Given the description of an element on the screen output the (x, y) to click on. 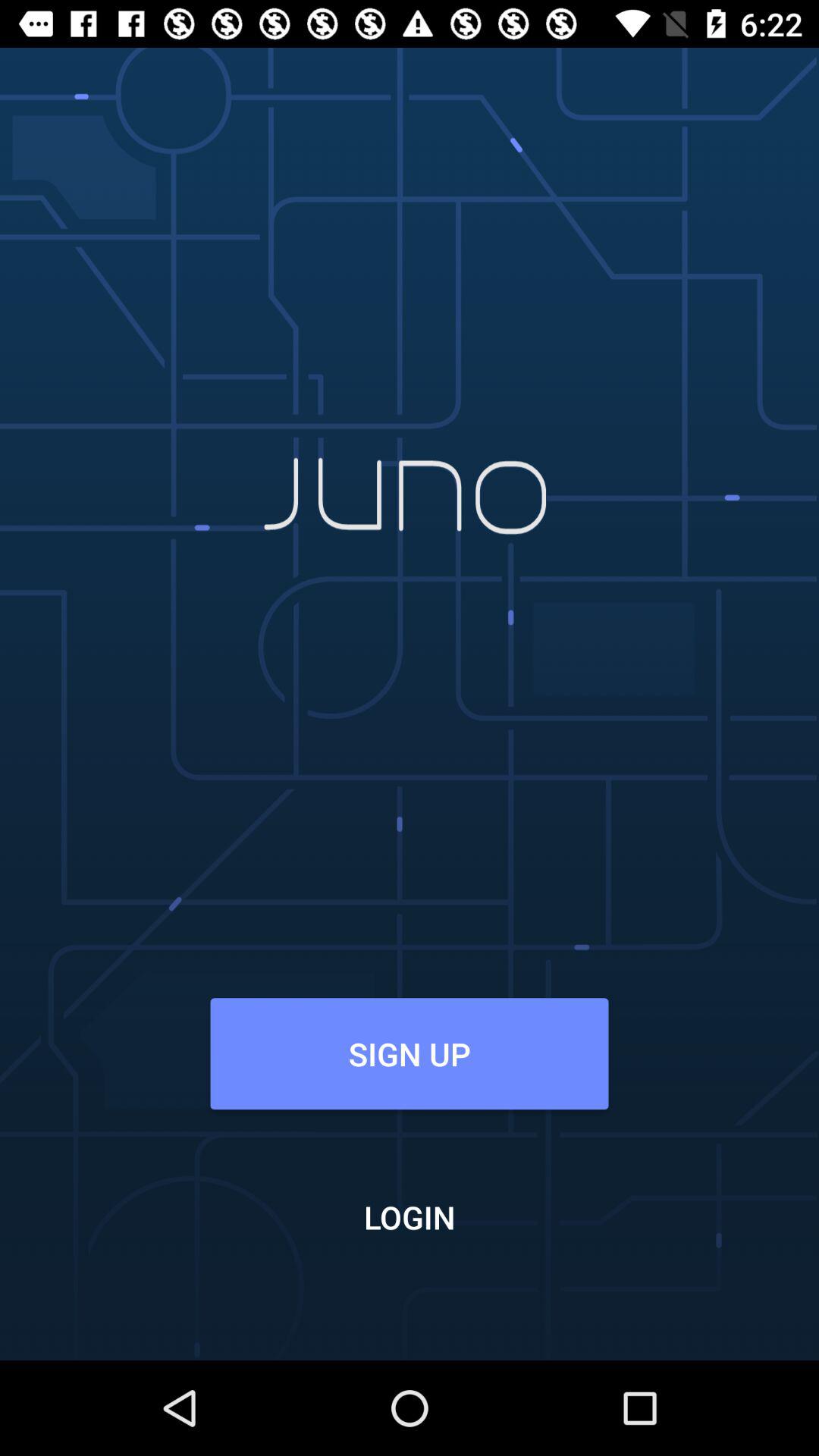
open the icon below sign up icon (409, 1216)
